Given the description of an element on the screen output the (x, y) to click on. 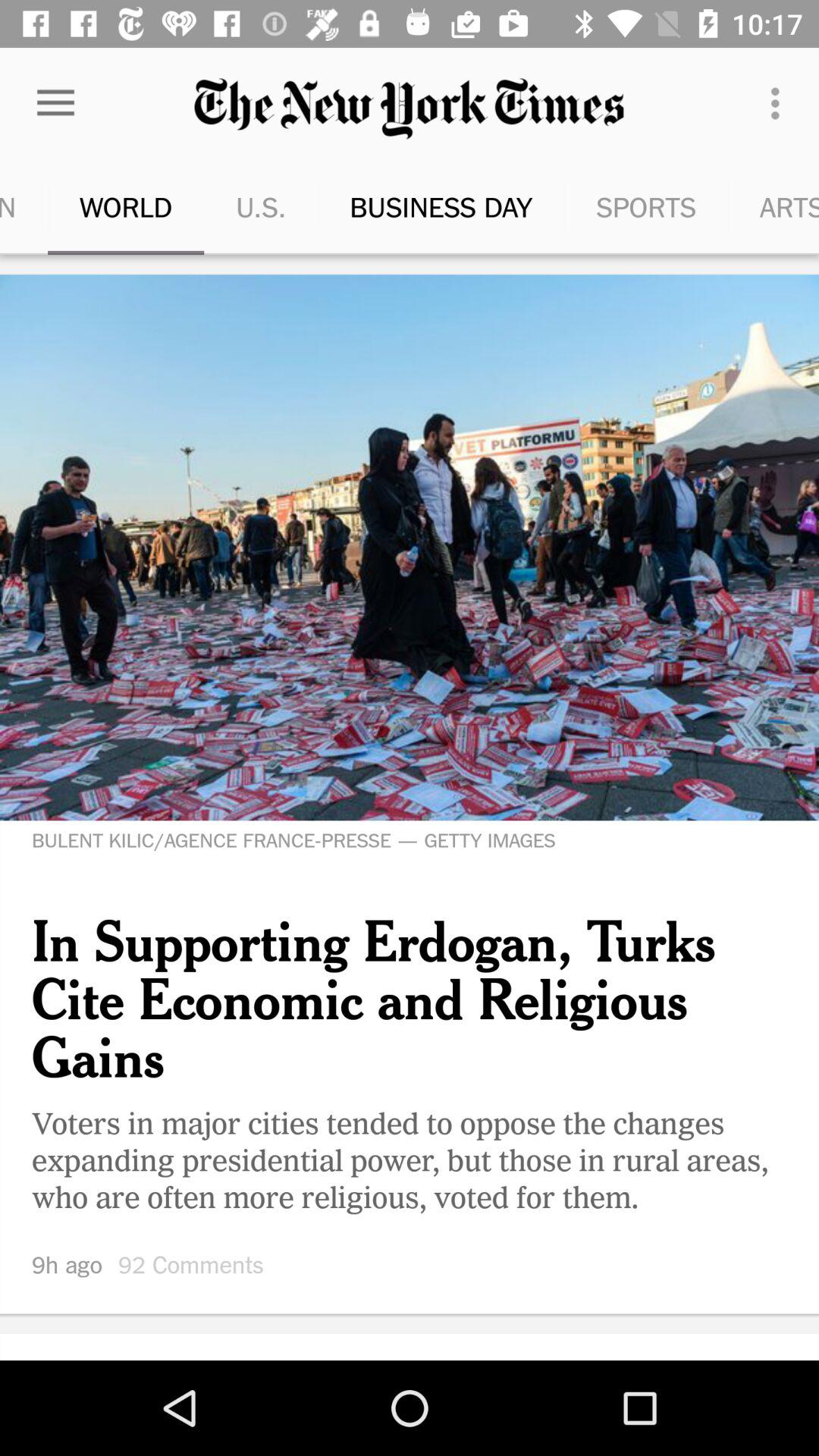
click the icon to the right of the opinion item (87, 206)
